Given the description of an element on the screen output the (x, y) to click on. 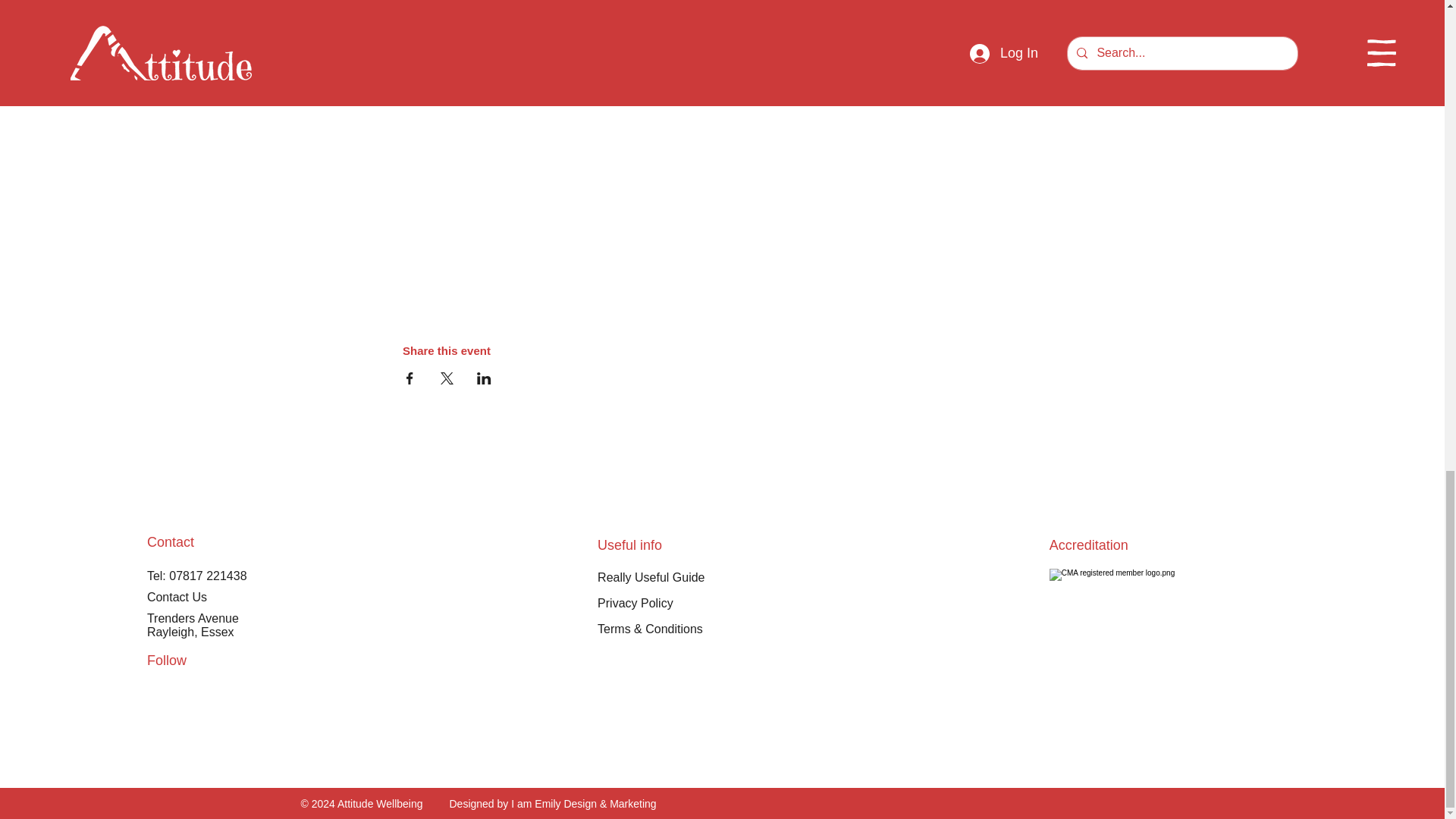
07817 221438 (207, 575)
Privacy Policy (634, 603)
Contact Us (176, 596)
Really Useful Guide (650, 576)
